Given the description of an element on the screen output the (x, y) to click on. 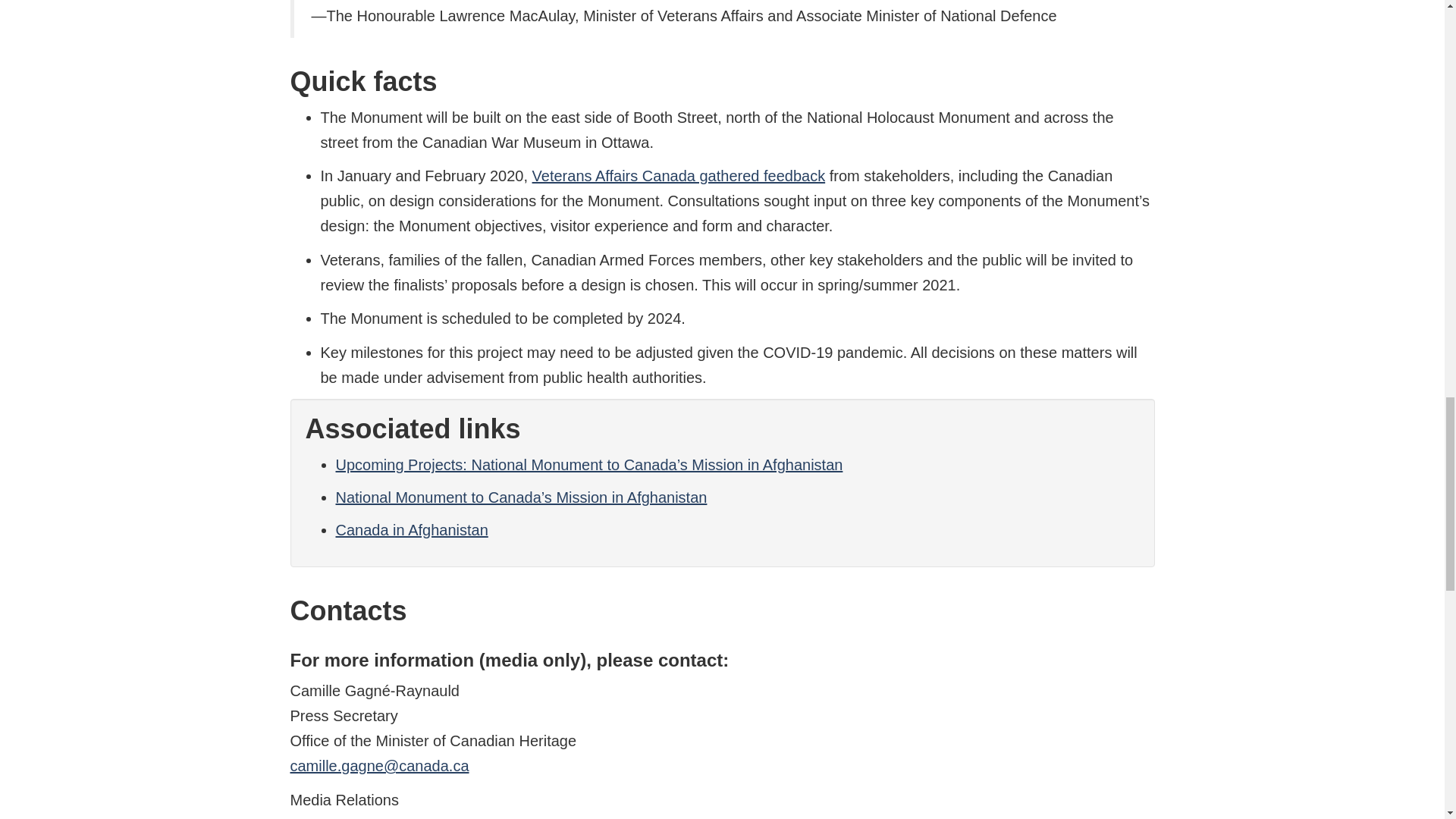
Canada in Afghanistan (410, 529)
Canada in Afghanistan (410, 529)
Veterans Affairs Canada gathered feedback (678, 175)
